Given the description of an element on the screen output the (x, y) to click on. 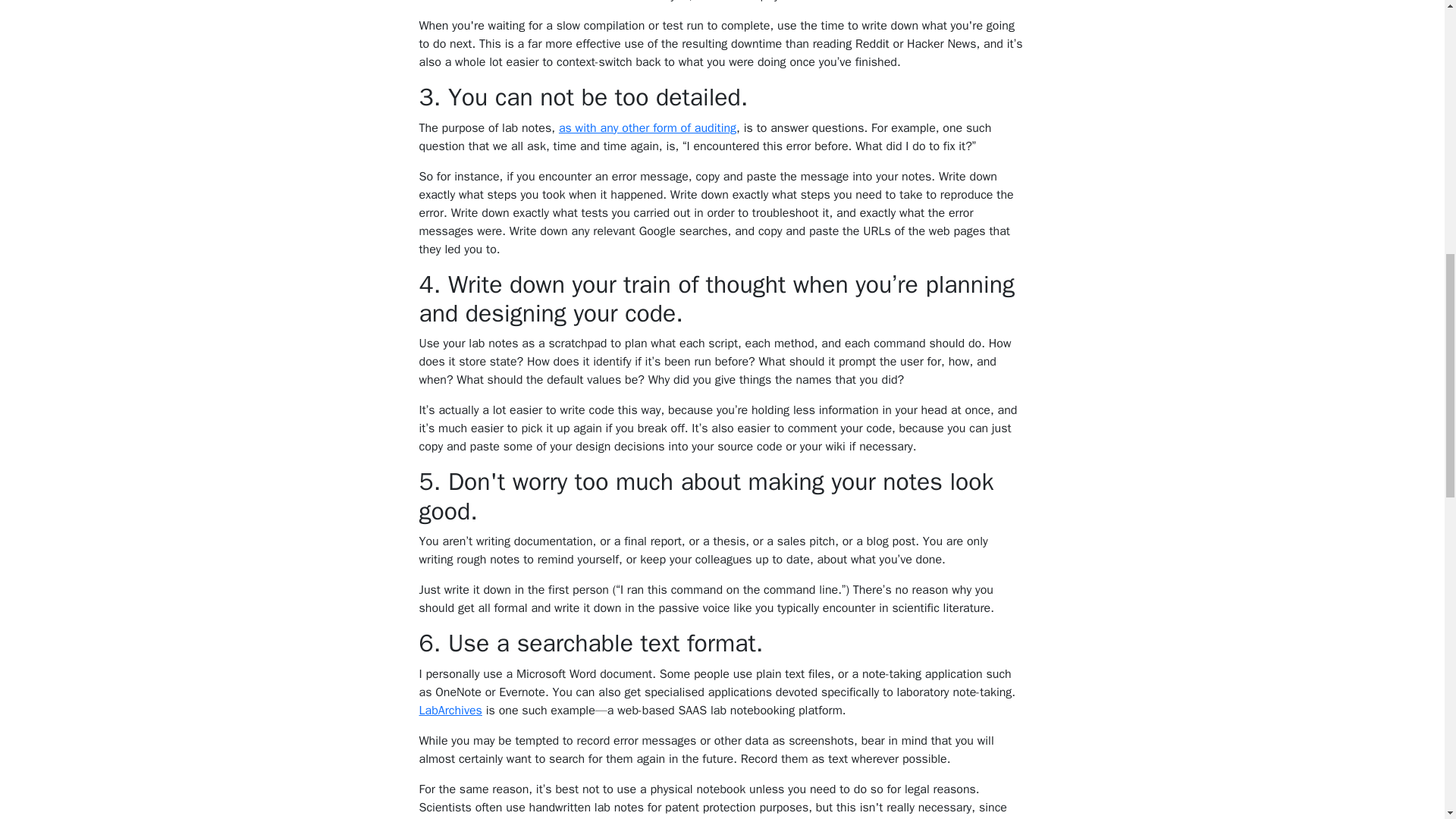
as with any other form of auditing (647, 127)
LabArchives (450, 710)
